Given the description of an element on the screen output the (x, y) to click on. 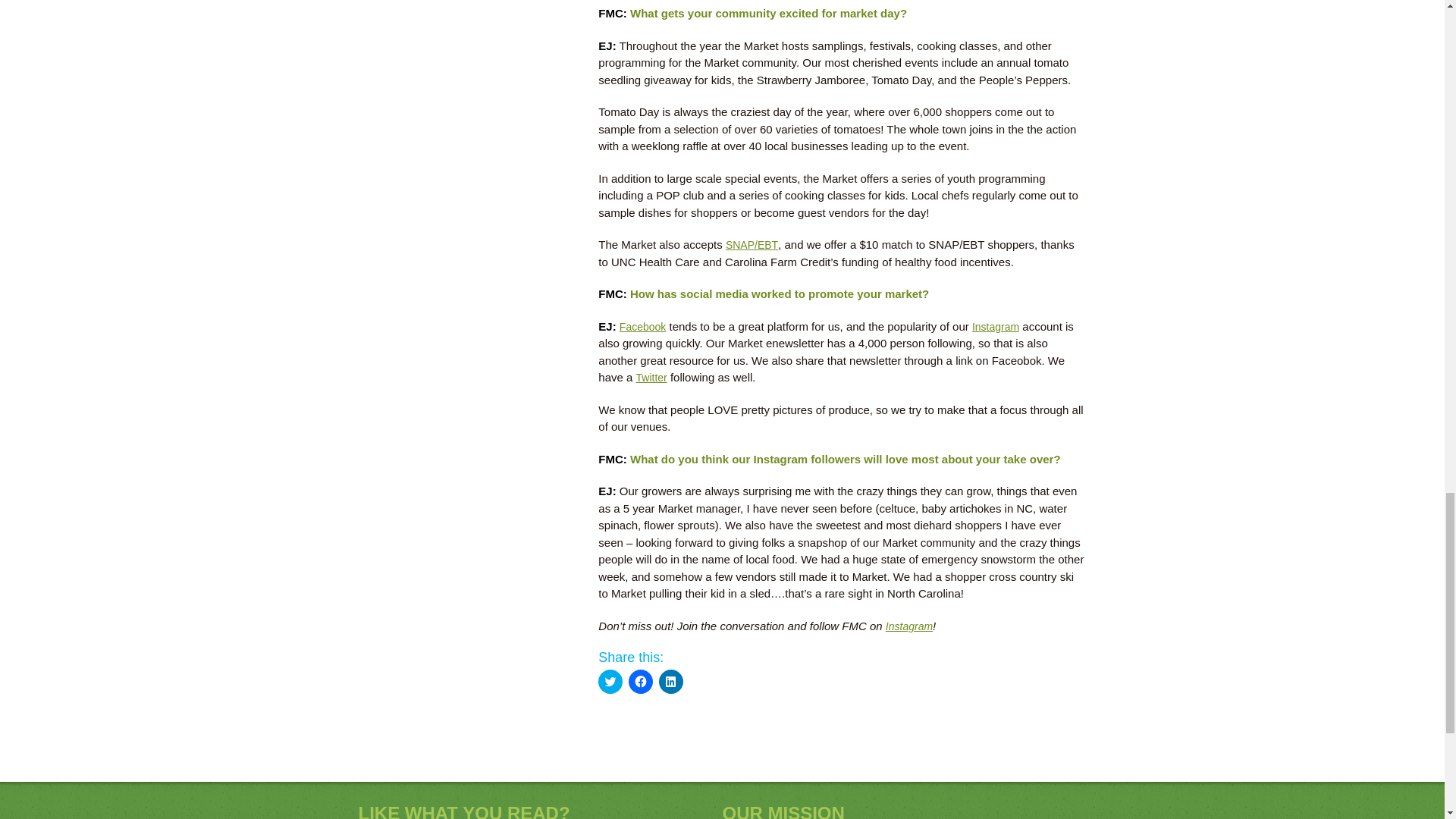
Click to share on LinkedIn (670, 681)
Click to share on Twitter (610, 681)
Click to share on Facebook (640, 681)
